Given the description of an element on the screen output the (x, y) to click on. 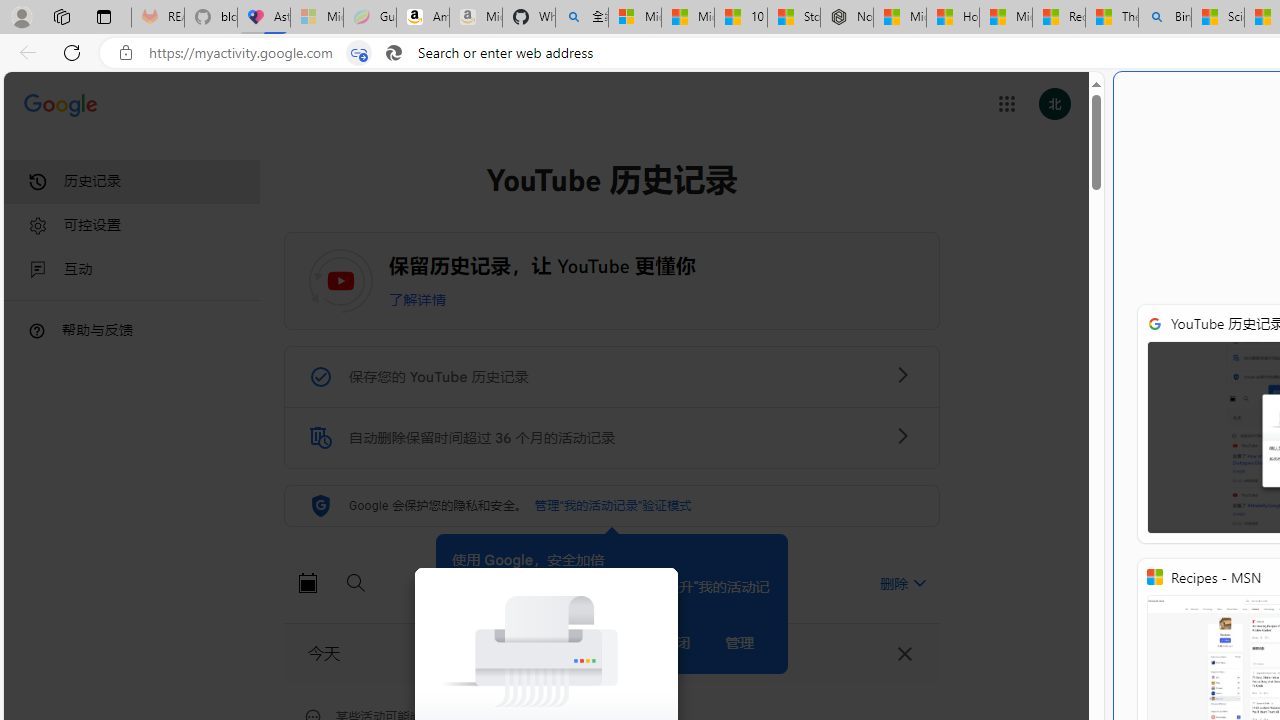
Search icon (393, 53)
